Given the description of an element on the screen output the (x, y) to click on. 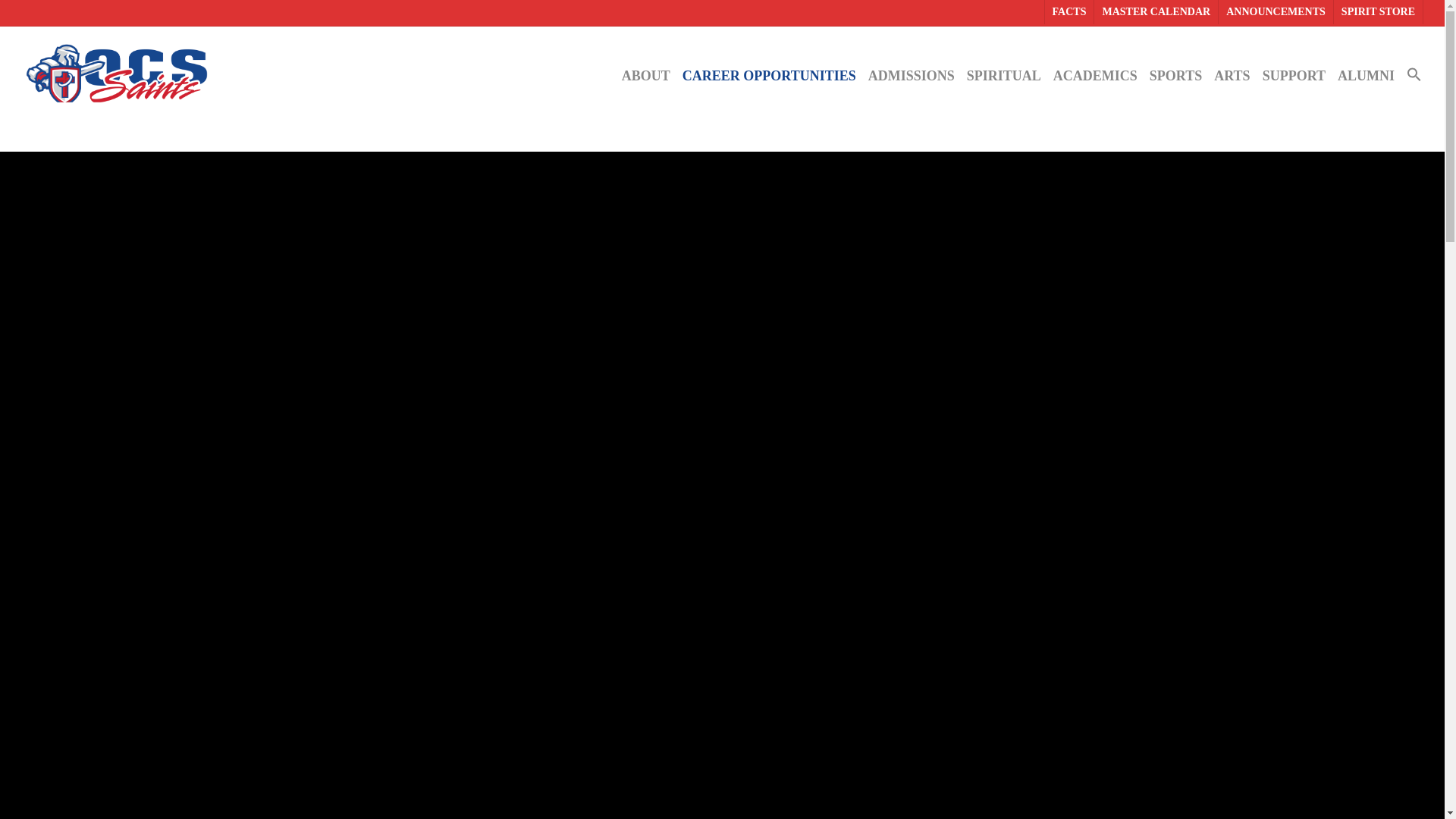
ACADEMICS (1094, 75)
SPIRIT STORE (1377, 12)
CAREER OPPORTUNITIES (769, 75)
SEARCH BUTTON (1430, 13)
ADMISSIONS (910, 75)
MASTER CALENDAR (1155, 12)
ABOUT (646, 75)
SPIRITUAL (1003, 75)
SUPPORT (1294, 75)
FACTS (1068, 12)
